Given the description of an element on the screen output the (x, y) to click on. 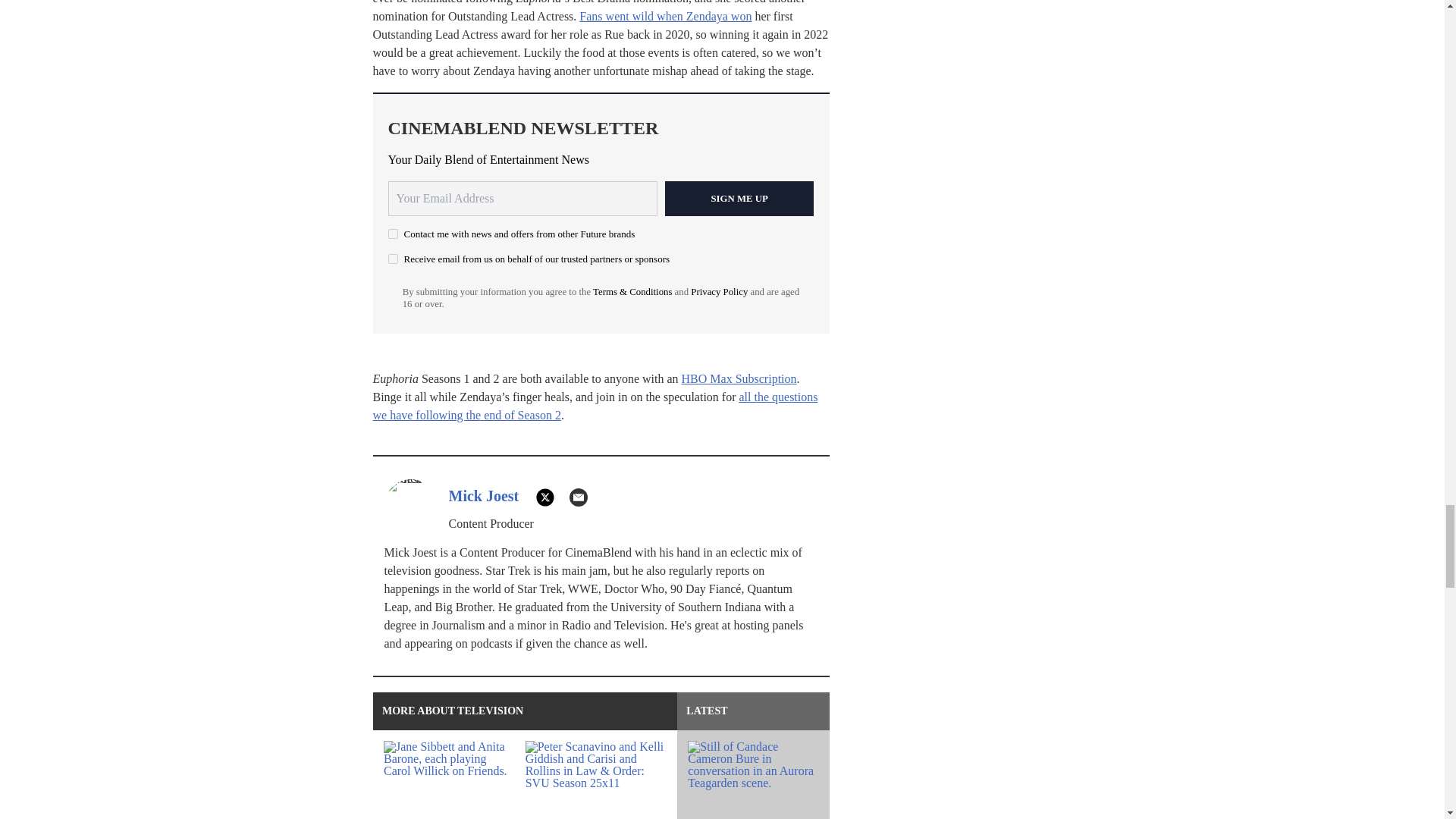
Sign me up (739, 198)
on (392, 234)
on (392, 258)
